Given the description of an element on the screen output the (x, y) to click on. 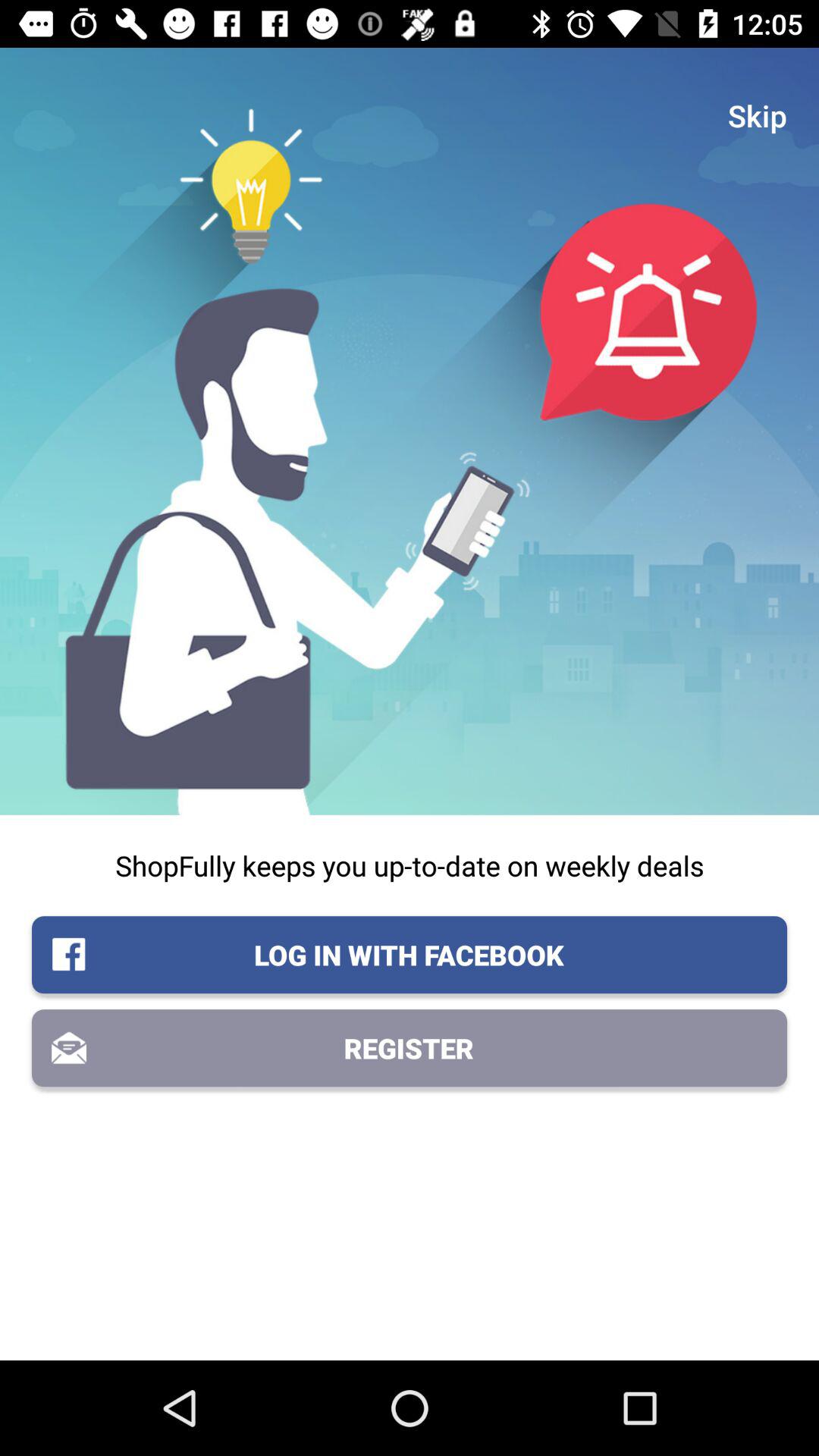
flip until the register item (409, 1047)
